Given the description of an element on the screen output the (x, y) to click on. 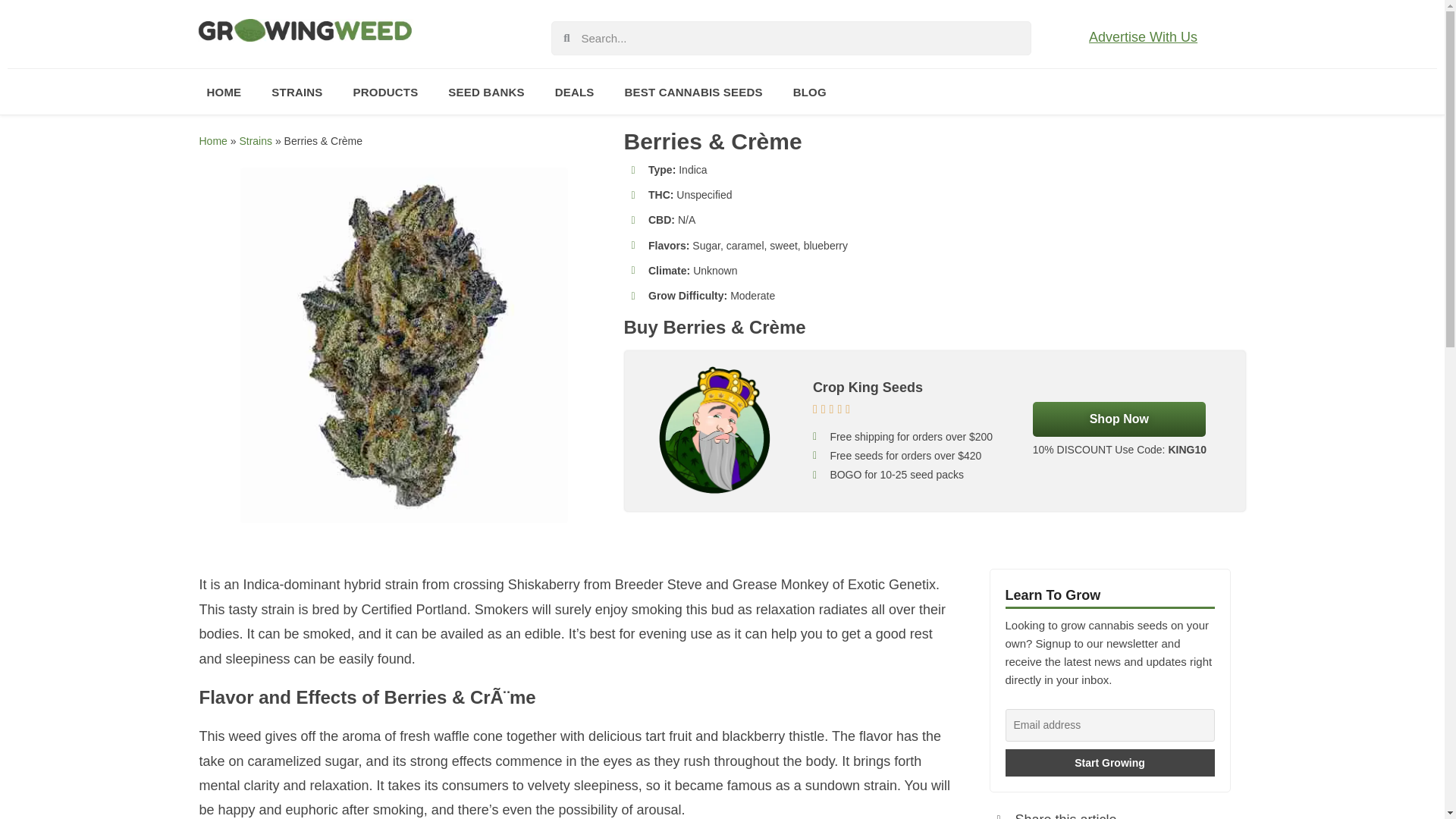
HOME (223, 91)
Crop King Seeds (1118, 419)
Crop King Seeds (715, 431)
BEST CANNABIS SEEDS (693, 91)
DEALS (575, 91)
STRAINS (296, 91)
Start Growing (1110, 762)
BLOG (809, 91)
Crop King Seeds (867, 387)
SEED BANKS (485, 91)
Advertise With Us (1142, 37)
PRODUCTS (385, 91)
